Given the description of an element on the screen output the (x, y) to click on. 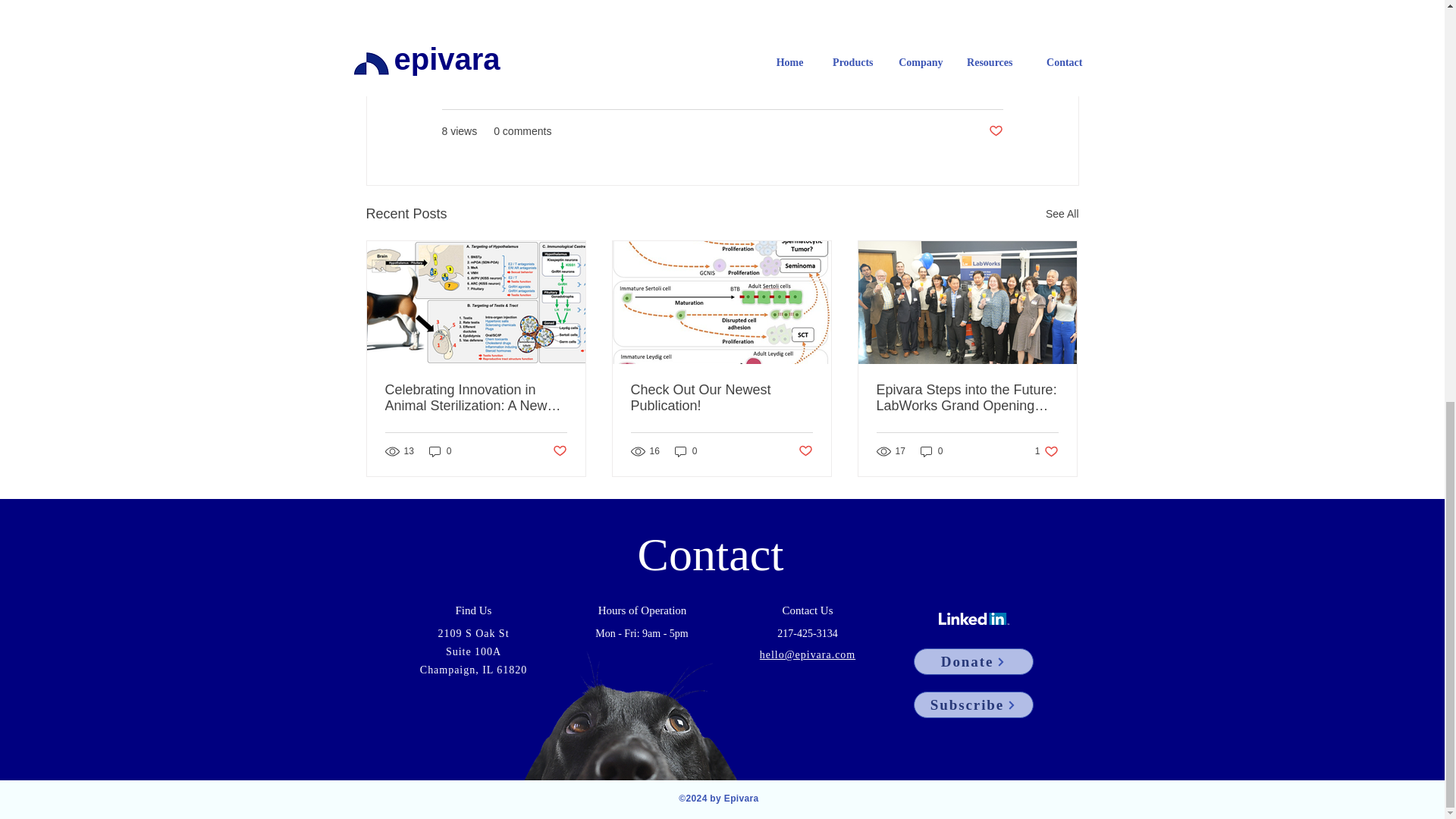
Post not marked as liked (995, 131)
Check Out Our Newest Publication! (721, 398)
0 (685, 451)
Post not marked as liked (1046, 451)
0 (804, 451)
Post not marked as liked (931, 451)
Donate (558, 451)
